Given the description of an element on the screen output the (x, y) to click on. 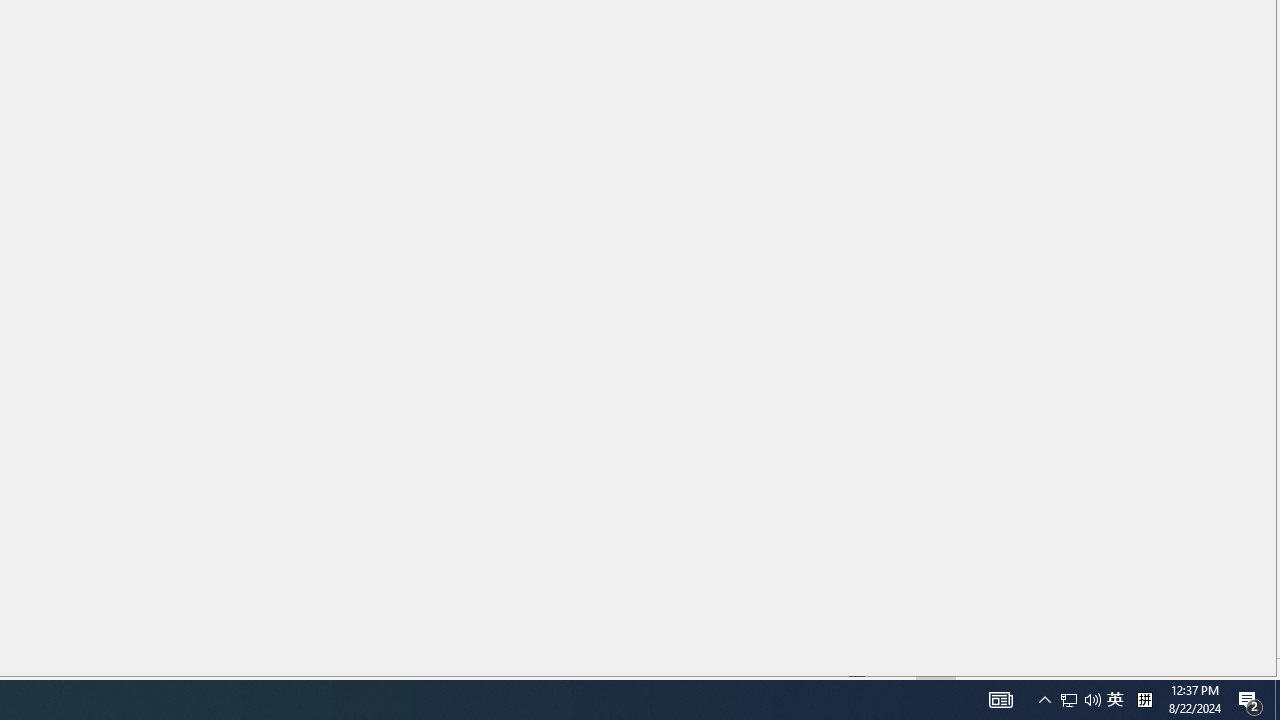
Apply to All (1008, 628)
Zoom 150% (1234, 668)
Reset Background (1114, 628)
